Given the description of an element on the screen output the (x, y) to click on. 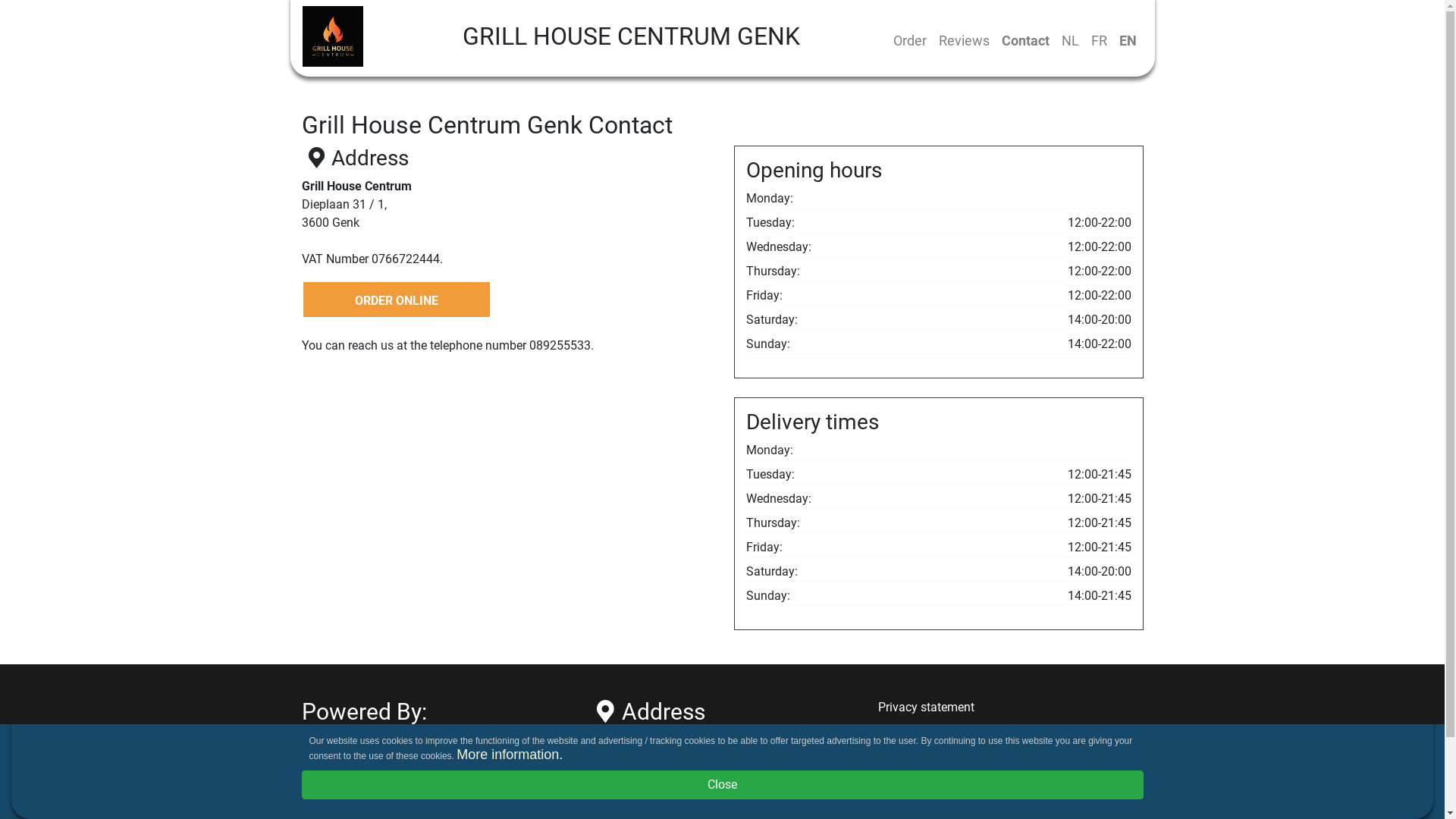
More information. Element type: text (509, 754)
Close Element type: text (722, 784)
NL Element type: text (1070, 40)
Reviews Element type: text (963, 40)
FR Element type: text (1098, 40)
ORDER ONLINE Element type: text (396, 299)
Privacy statement Element type: text (926, 706)
Order Element type: text (909, 40)
EN Element type: text (1127, 40)
Contact Element type: text (1024, 40)
